Given the description of an element on the screen output the (x, y) to click on. 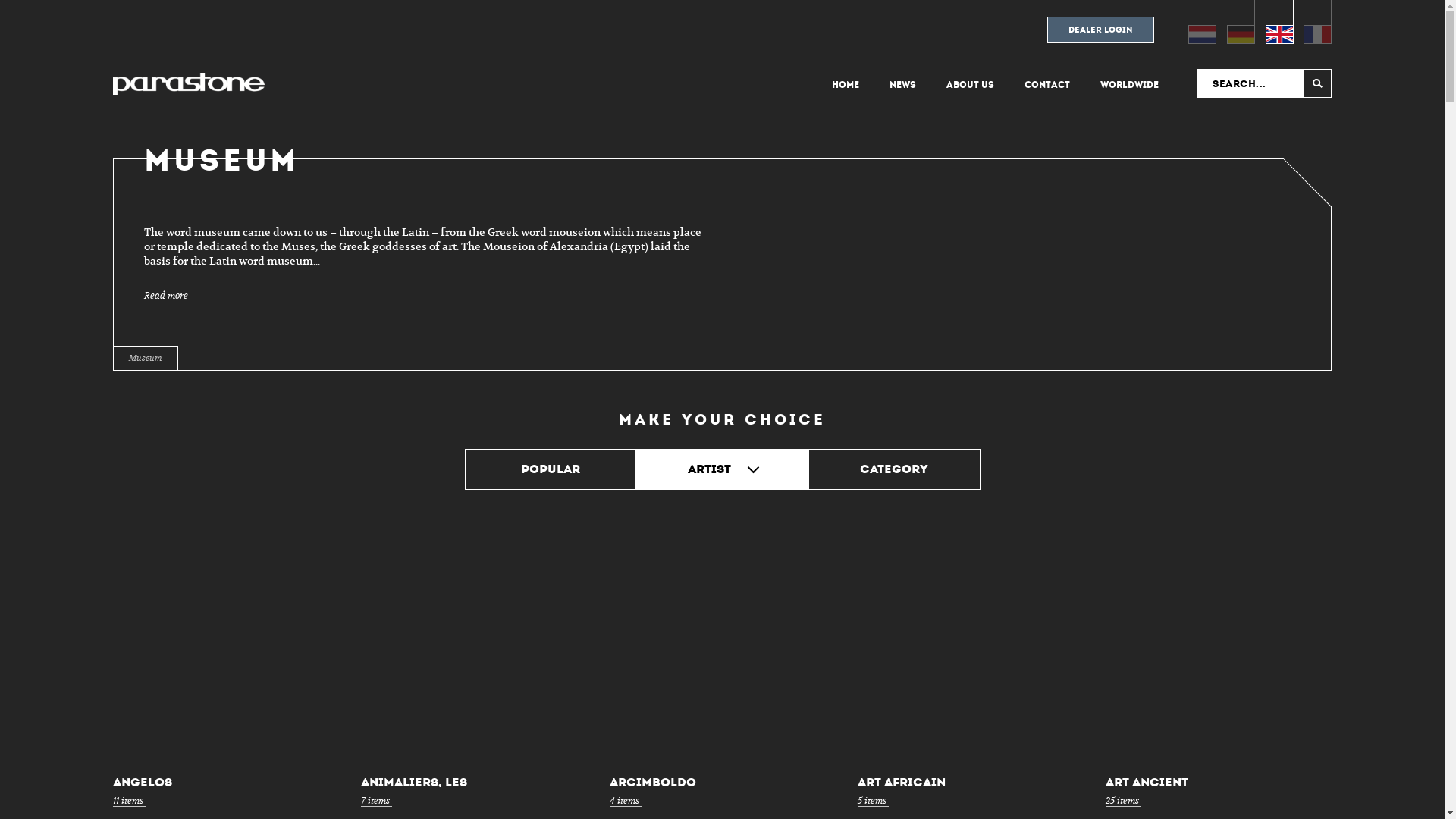
Popular Element type: text (550, 469)
Museum Element type: text (145, 357)
Contact Element type: text (1047, 84)
Read more Element type: text (165, 295)
News Element type: text (902, 84)
HOME Element type: text (845, 84)
Dealer login Element type: text (1100, 34)
Category Element type: text (894, 469)
About us Element type: text (970, 84)
Worldwide Element type: text (1129, 84)
